Given the description of an element on the screen output the (x, y) to click on. 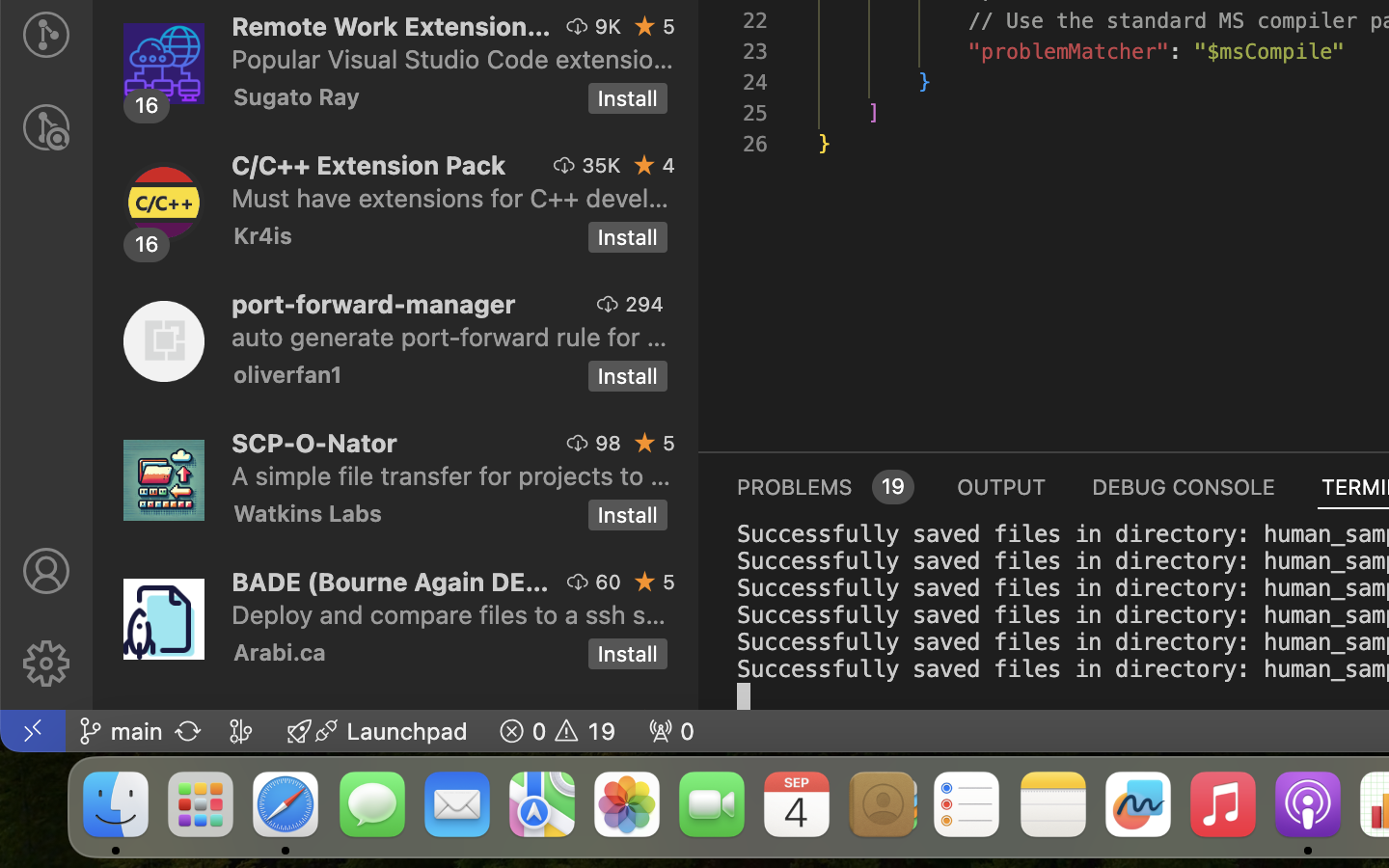
60 Element type: AXStaticText (608, 581)
Watkins Labs Element type: AXStaticText (307, 512)
 Element type: AXGroup (46, 570)
